Given the description of an element on the screen output the (x, y) to click on. 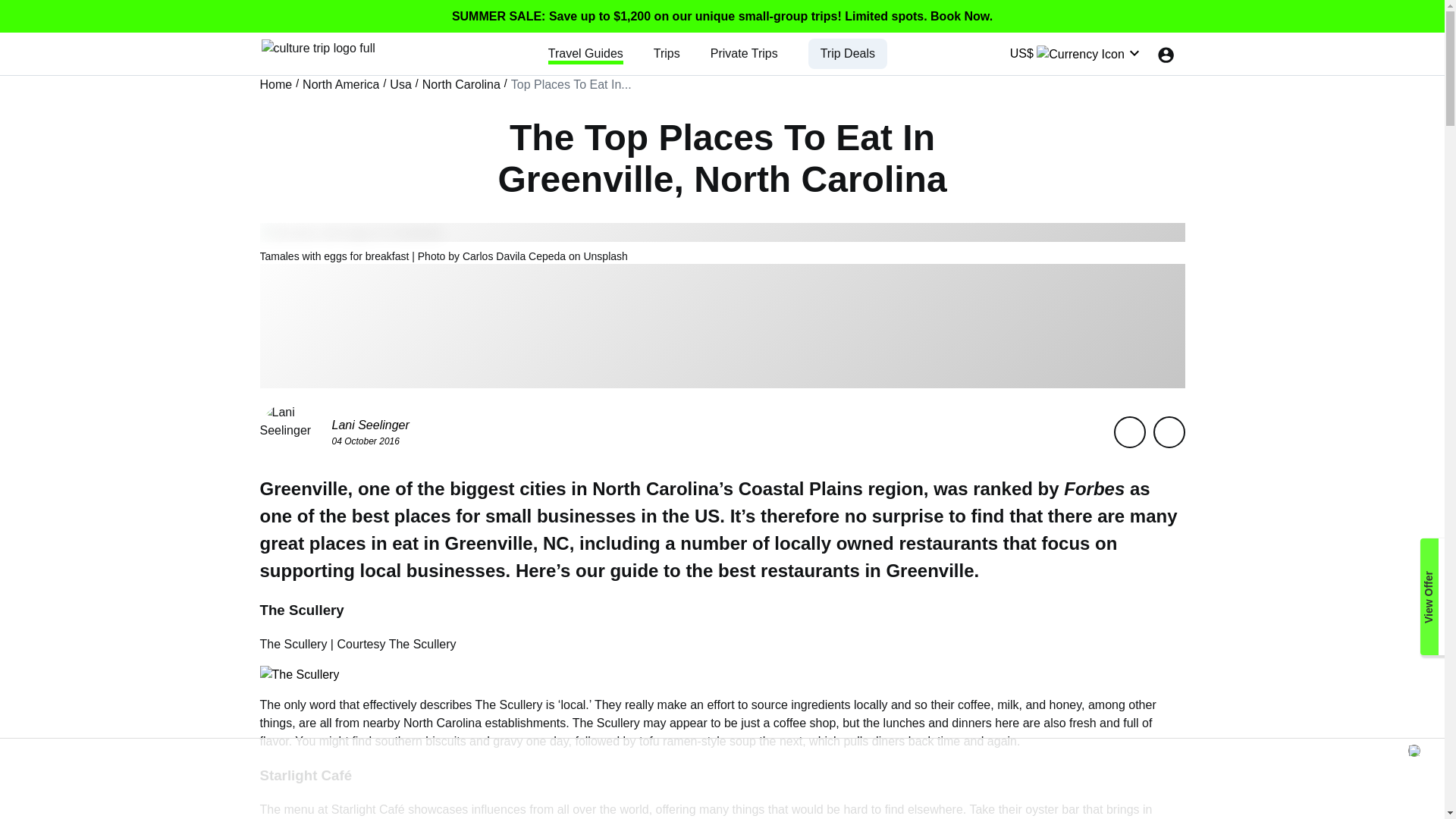
restaurant (804, 570)
North Carolina (655, 488)
The Scullery (507, 704)
North America (340, 85)
Greenville (488, 543)
Private Trips (743, 53)
Private Trips (743, 53)
Trips (666, 53)
Top Places To Eat In... (571, 85)
North Carolina (461, 85)
